Given the description of an element on the screen output the (x, y) to click on. 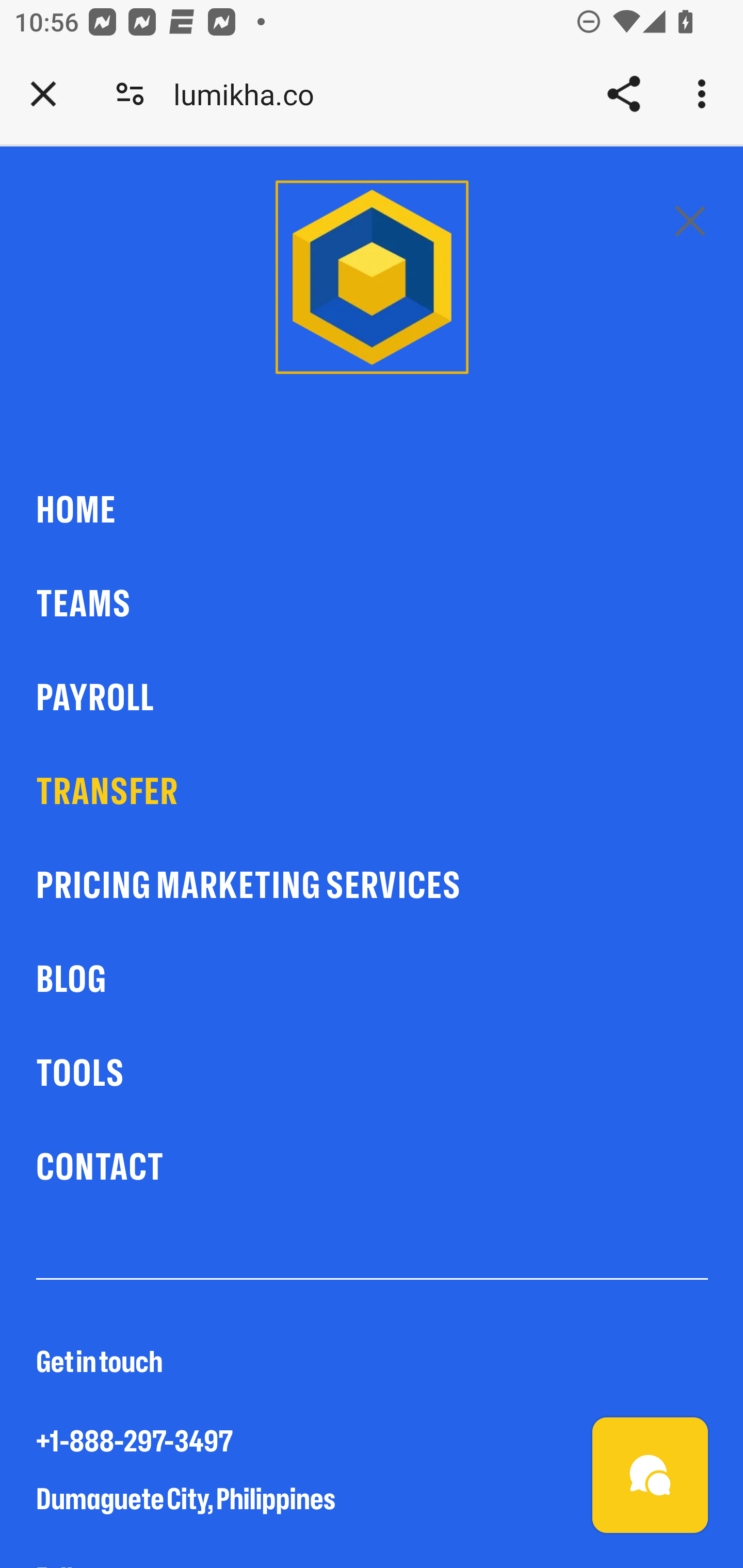
Close tab (43, 93)
Share (623, 93)
Customize and control Google Chrome (705, 93)
Connection is secure (129, 93)
lumikha.co (250, 93)
menu opener (690, 220)
HOME (372, 510)
TEAMS TEAMS TEAMS (372, 604)
PAYROLL PAYROLL PAYROLL (372, 698)
TRANSFER TRANSFER TRANSFER (372, 792)
BLOG BLOG BLOG (372, 979)
TOOLS TOOLS TOOLS (372, 1073)
CONTACT CONTACT CONTACT (372, 1167)
bubble-icon (650, 1476)
